Given the description of an element on the screen output the (x, y) to click on. 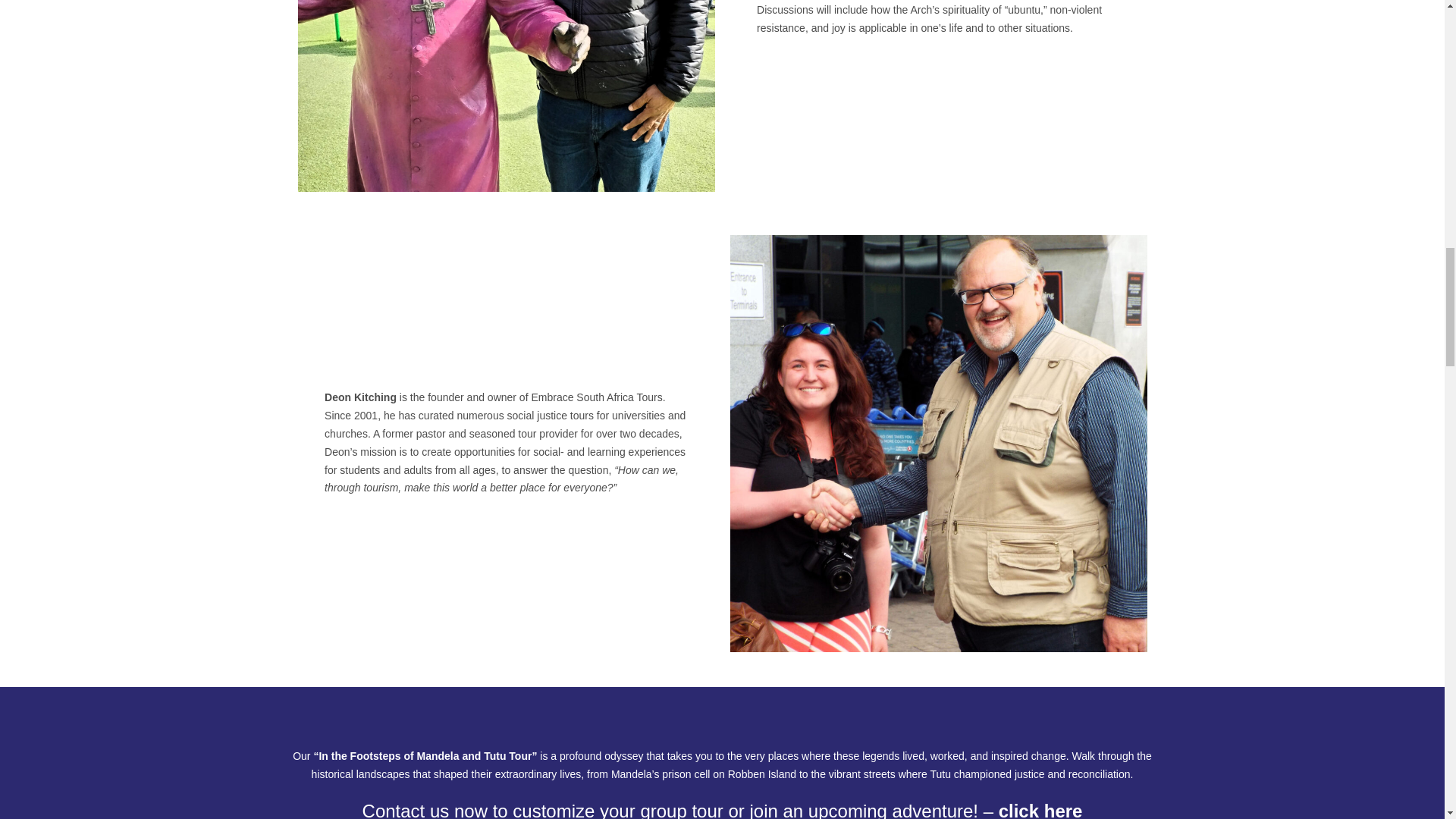
click here (1040, 809)
